Given the description of an element on the screen output the (x, y) to click on. 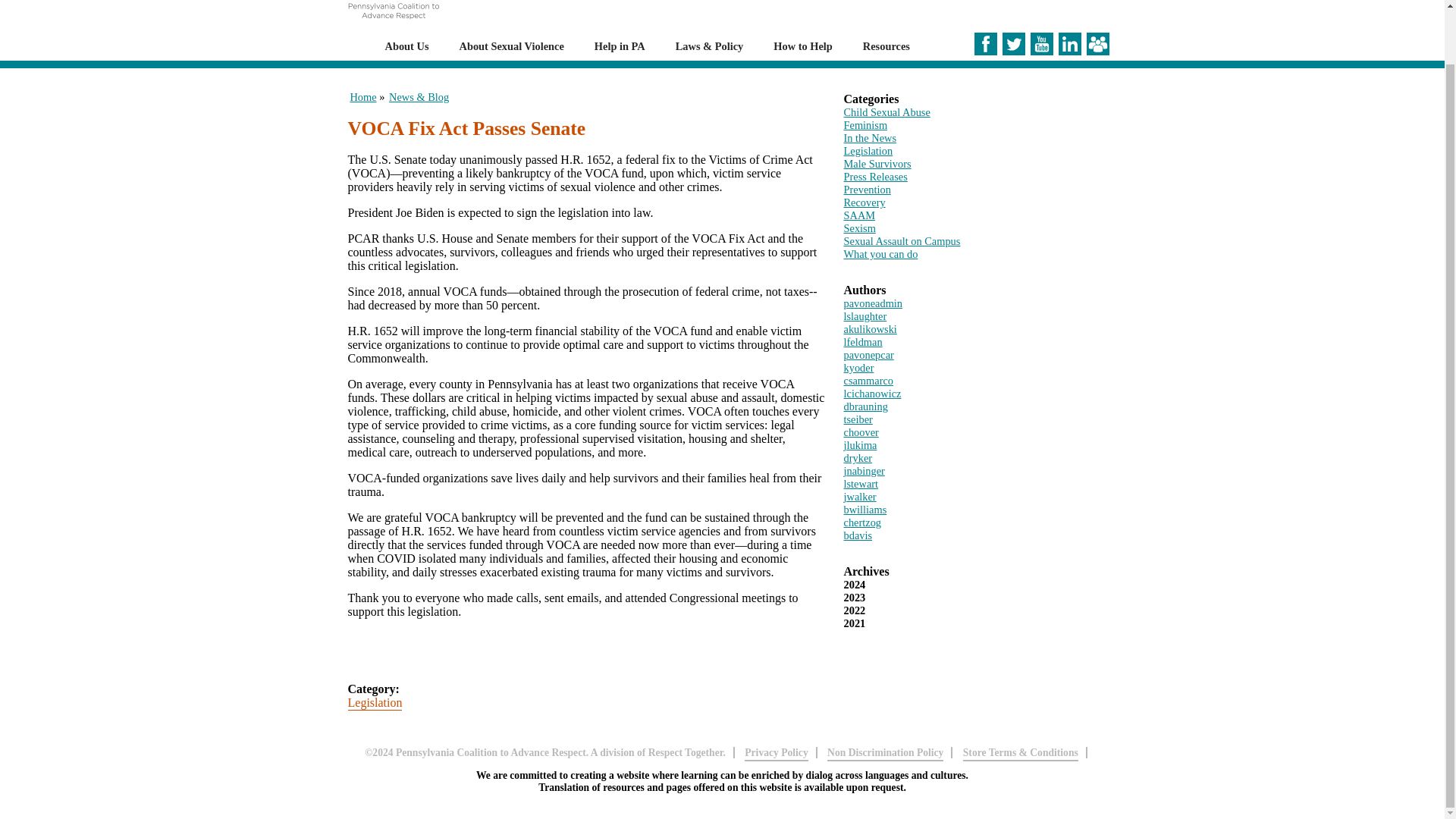
About Sexual Violence (510, 46)
Community (1097, 51)
Help in PA (619, 46)
Home (391, 24)
Community (1097, 43)
About Us (407, 46)
